Given the description of an element on the screen output the (x, y) to click on. 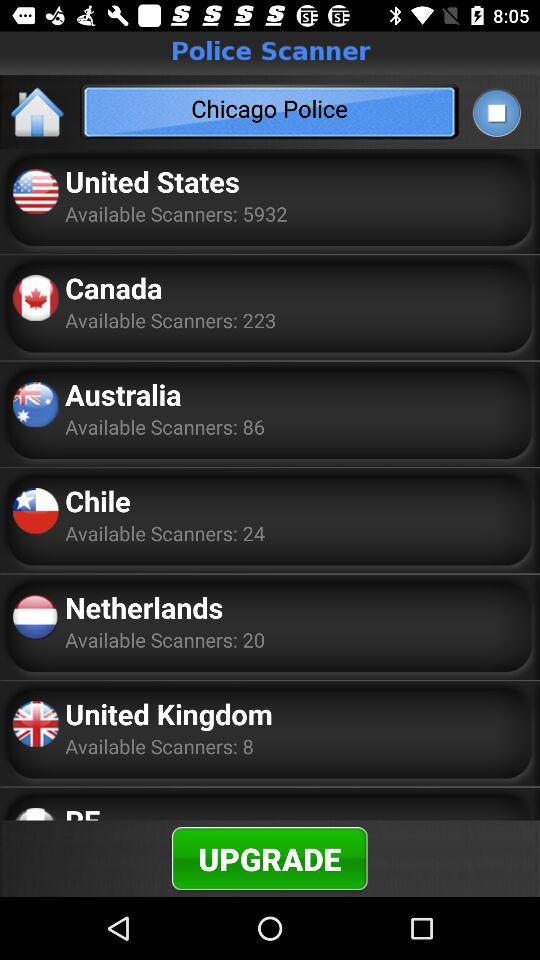
launch the icon above the available scanners: 86 app (123, 394)
